Given the description of an element on the screen output the (x, y) to click on. 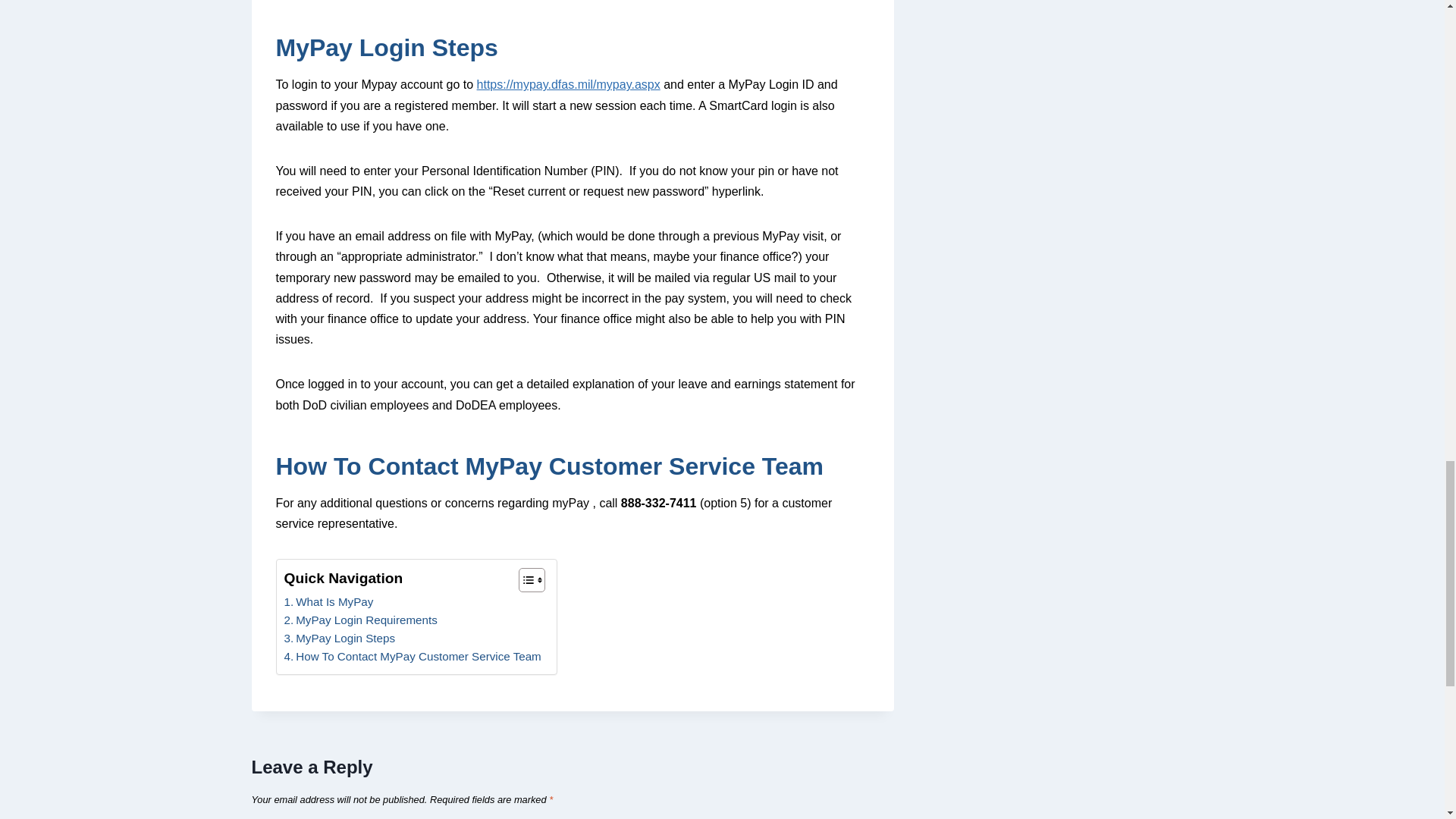
What Is MyPay (327, 601)
How To Contact MyPay Customer Service Team (411, 656)
MyPay Login Steps (338, 638)
MyPay Login Requirements (359, 619)
